Given the description of an element on the screen output the (x, y) to click on. 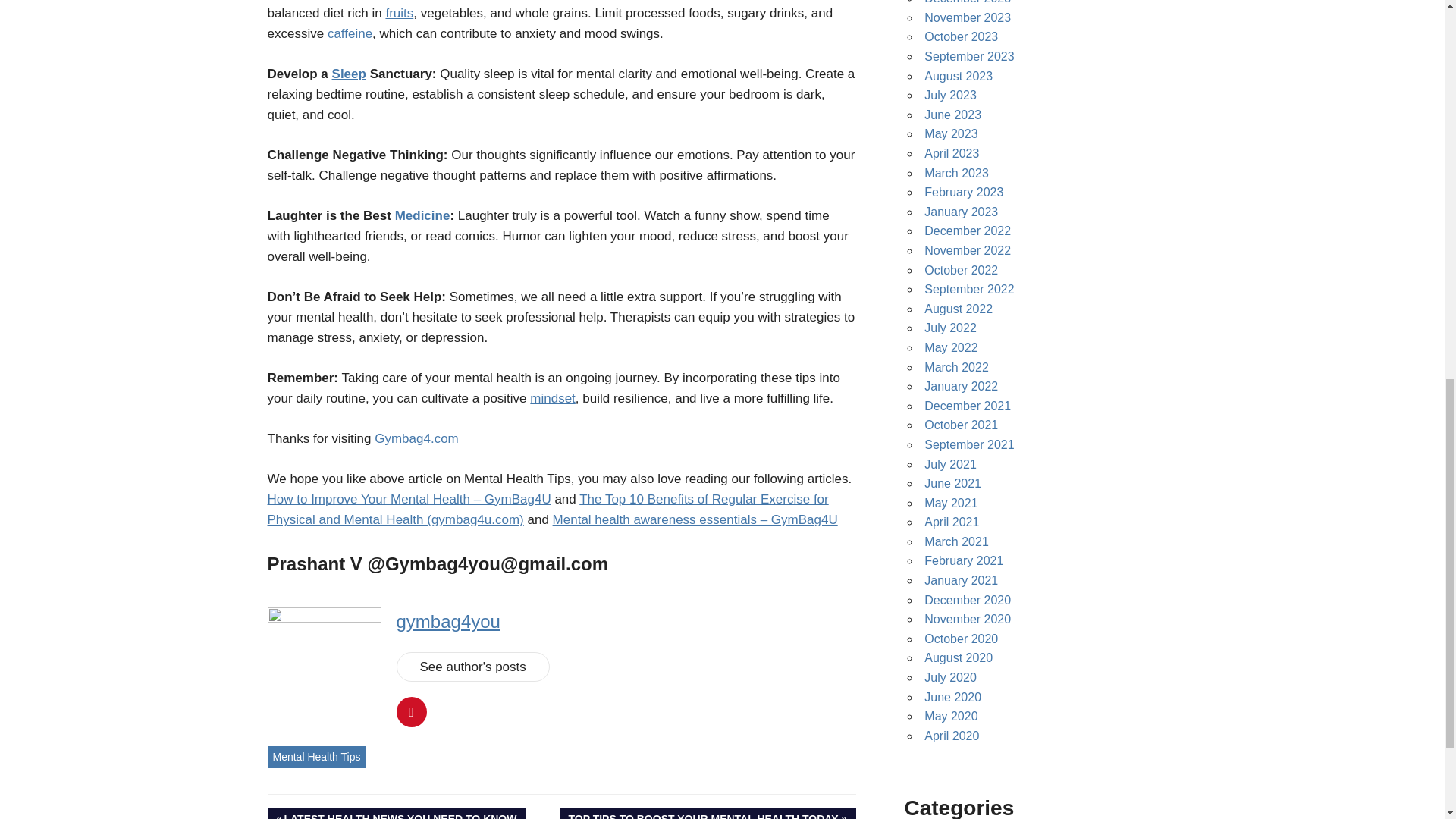
mindset (552, 398)
See author's posts (472, 666)
Gymbag4.com (416, 438)
Sleep (395, 813)
Mental Health Tips (348, 73)
caffeine (315, 757)
fruits (349, 33)
Medicine (399, 12)
gymbag4you (421, 215)
